Given the description of an element on the screen output the (x, y) to click on. 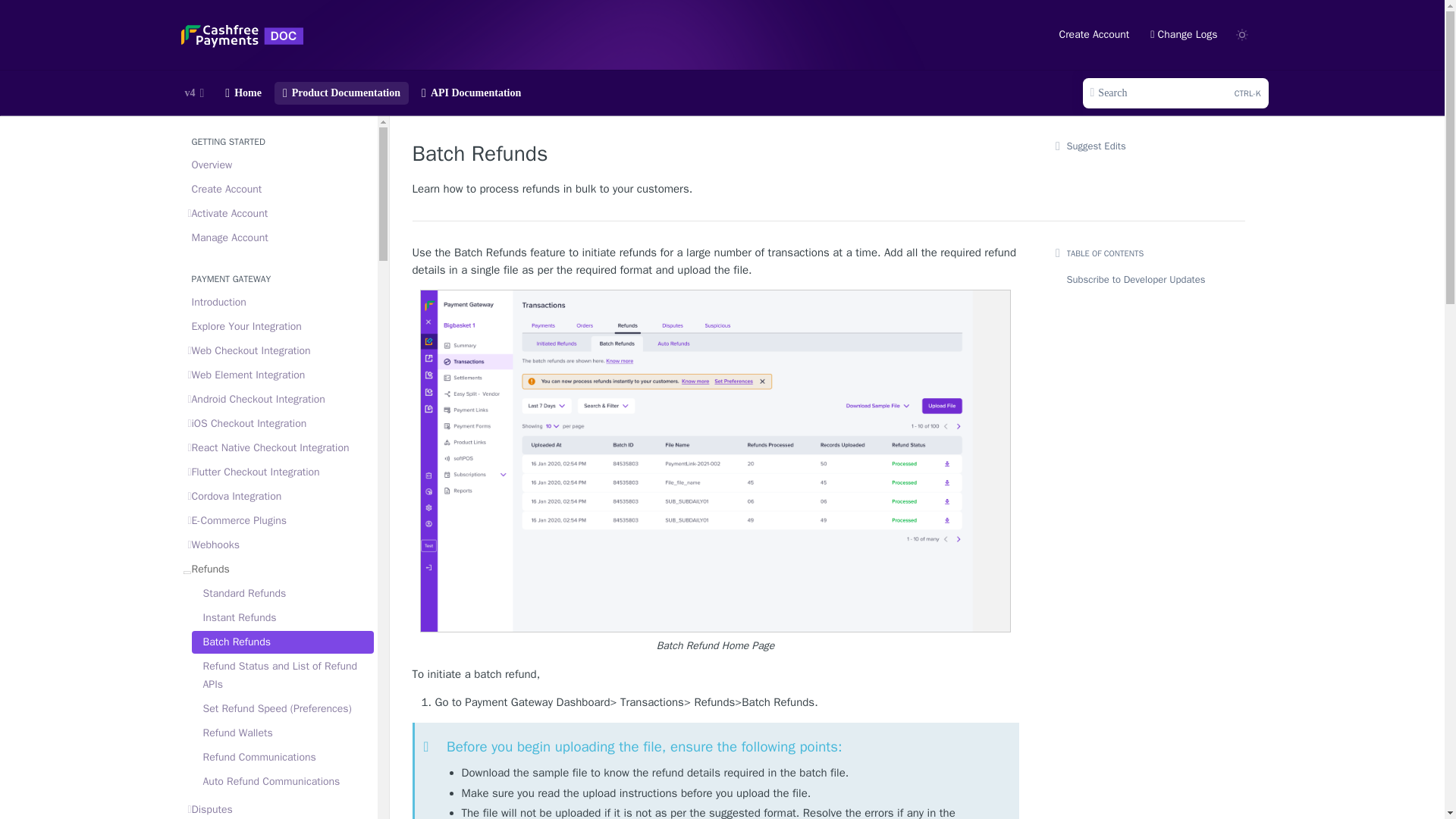
Web Checkout Integration (277, 350)
Activate Account (277, 213)
Introduction (277, 302)
API Documentation (471, 92)
Create Account (277, 189)
Product Documentation (342, 92)
Web Element Integration (277, 374)
Explore Your Integration (277, 326)
Home (242, 92)
v4 (194, 92)
Overview (277, 164)
Manage Account (1175, 92)
Create Account (277, 237)
BatchRefundsHomePage.png (1093, 34)
